Given the description of an element on the screen output the (x, y) to click on. 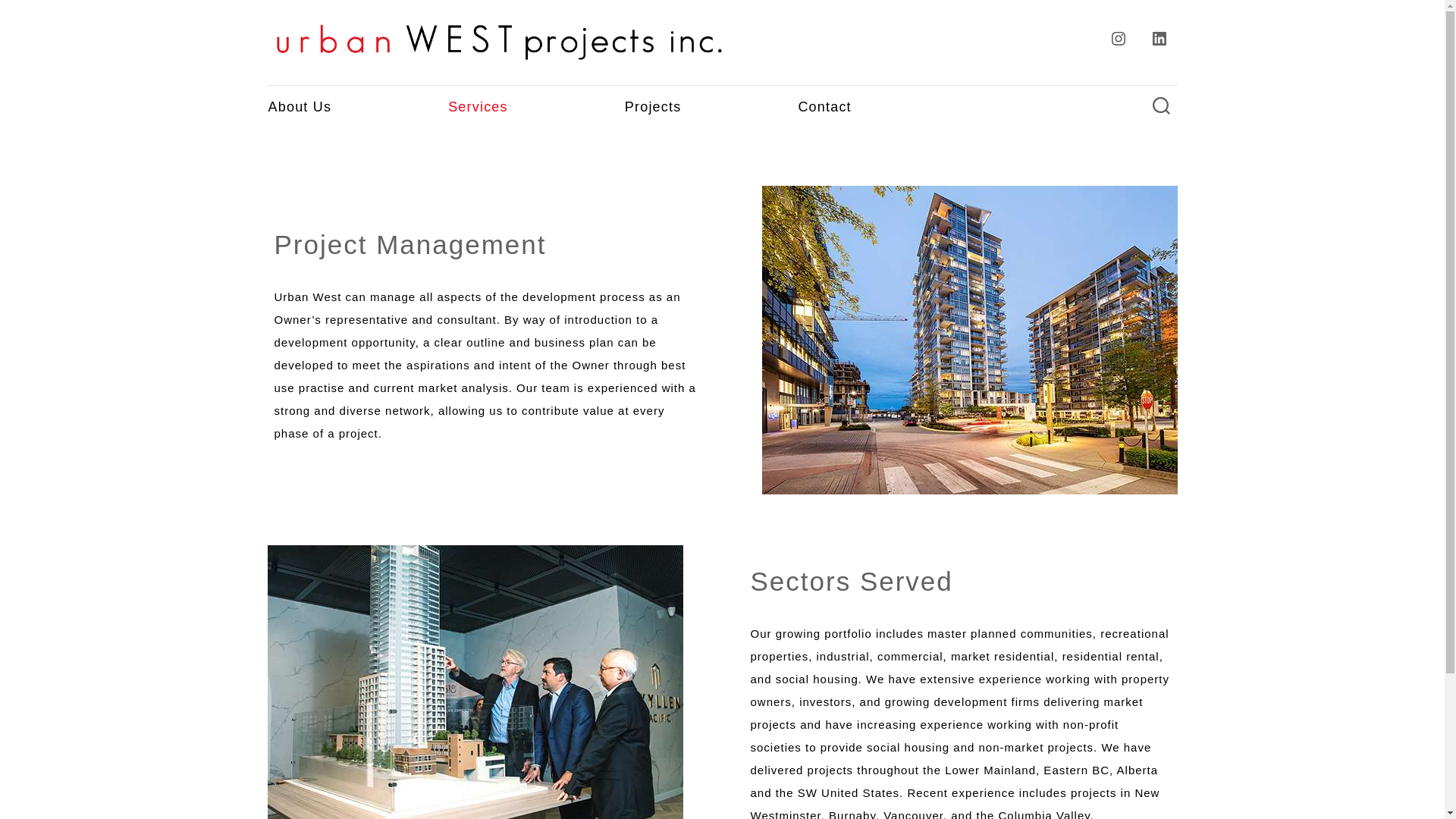
Contact (823, 106)
Instagram (1117, 38)
Linkedin (1157, 38)
About Us (299, 106)
Services (478, 106)
Projects (652, 106)
